Given the description of an element on the screen output the (x, y) to click on. 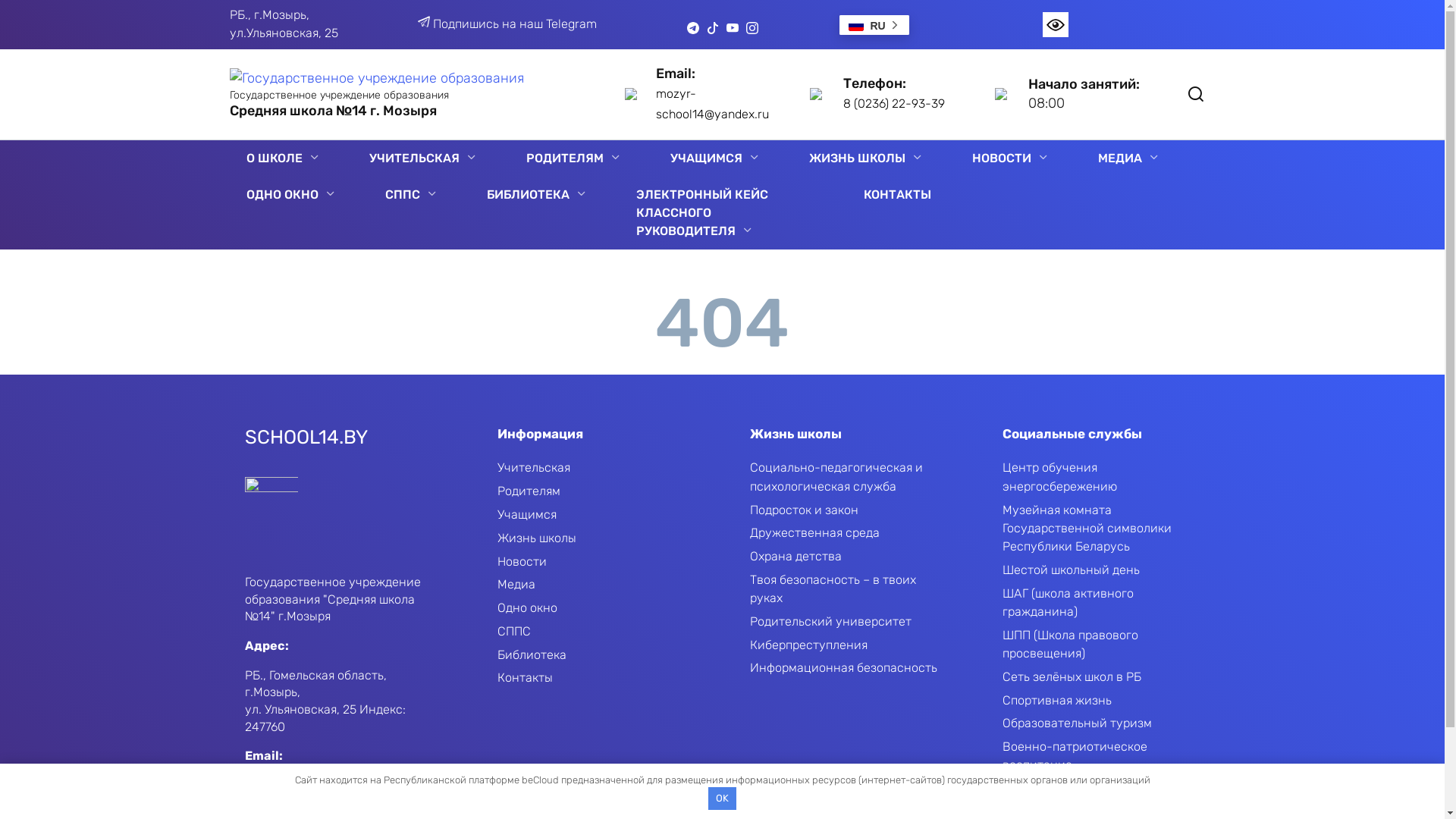
8 (0236) 22-93-39 Element type: text (893, 103)
OK Element type: text (722, 798)
mozyr-school14@yandex.ru Element type: text (711, 103)
